Given the description of an element on the screen output the (x, y) to click on. 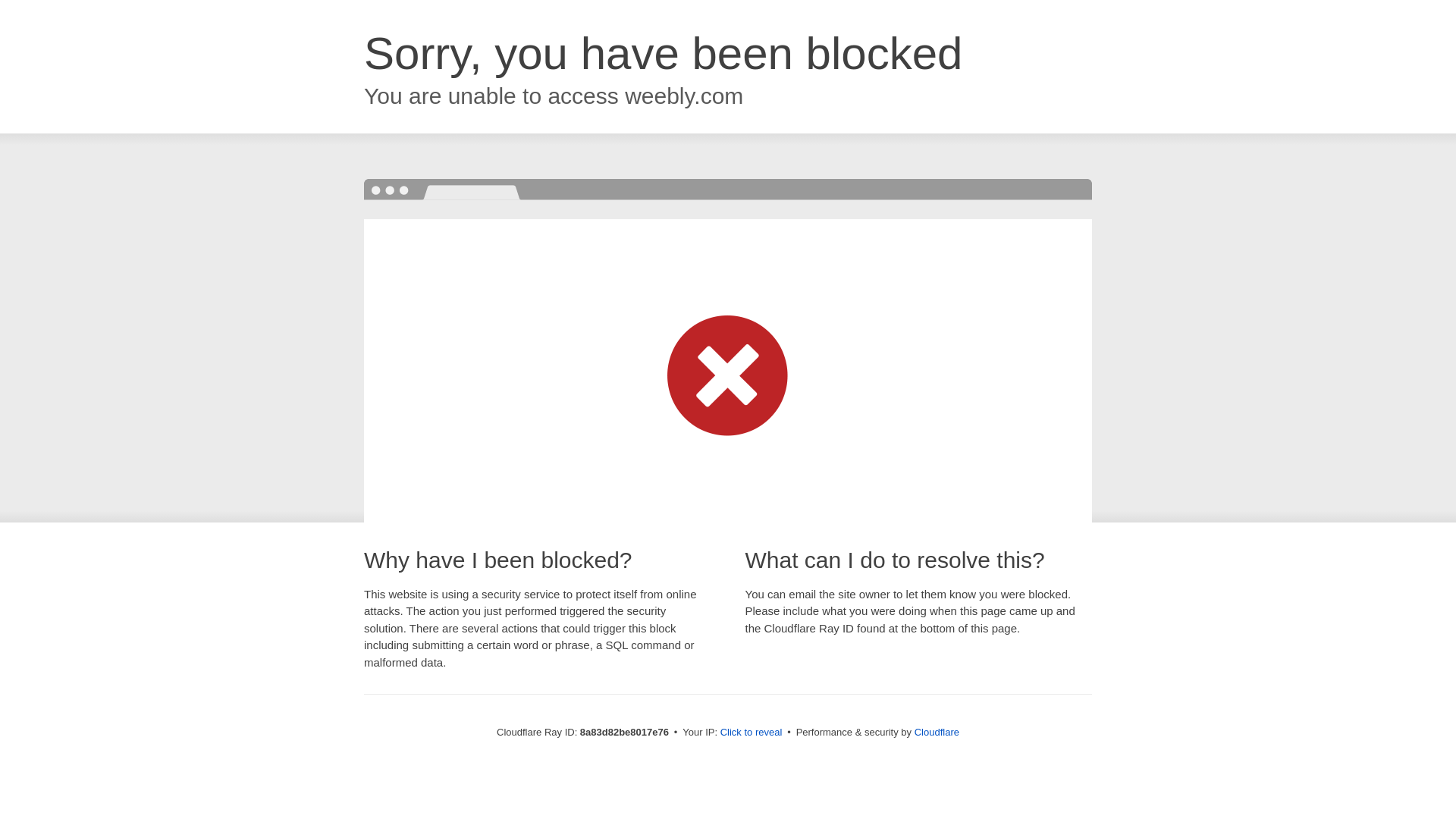
Cloudflare (936, 731)
Click to reveal (751, 732)
